Given the description of an element on the screen output the (x, y) to click on. 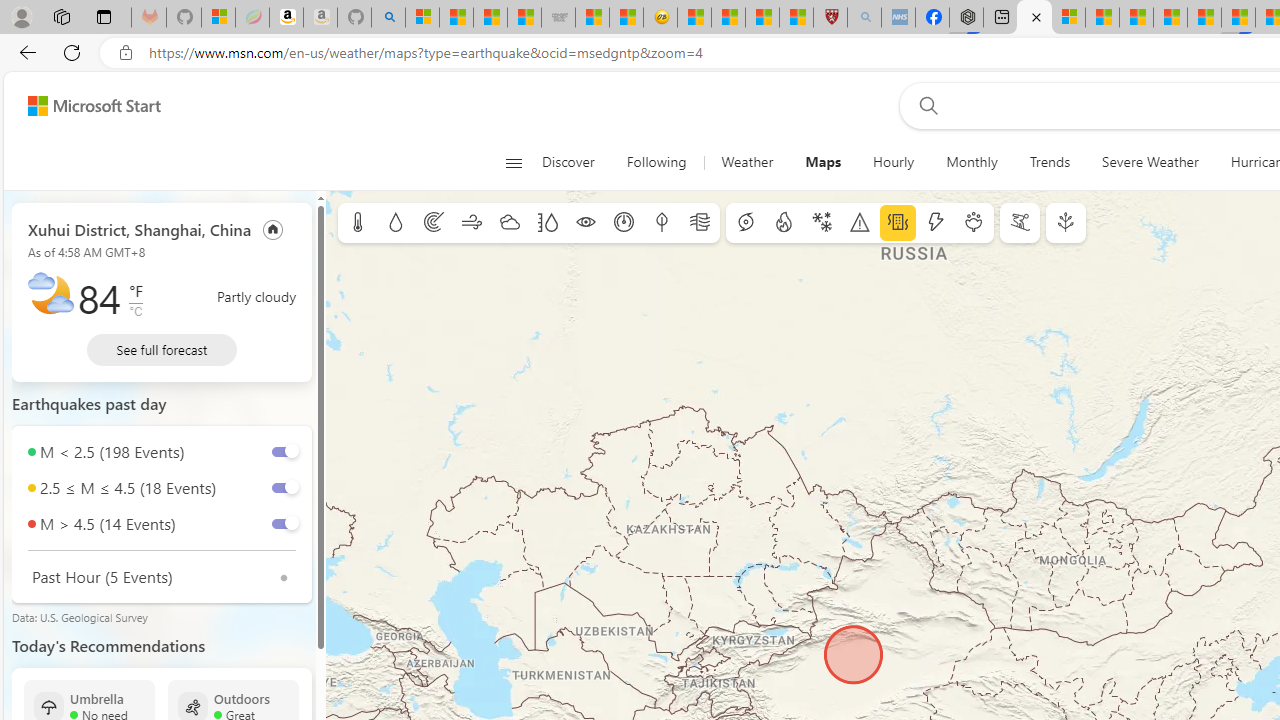
Nordace - Nordace Siena Is Not An Ordinary Backpack (966, 17)
Combat Siege (557, 17)
Winter weather (821, 223)
Following (656, 162)
Set as primary location (273, 228)
Xuhui District, Shanghai, China (140, 228)
MSNBC - MSN (489, 17)
Back (24, 52)
Sea level pressure (623, 223)
Dew point (661, 223)
Radar (433, 223)
